Given the description of an element on the screen output the (x, y) to click on. 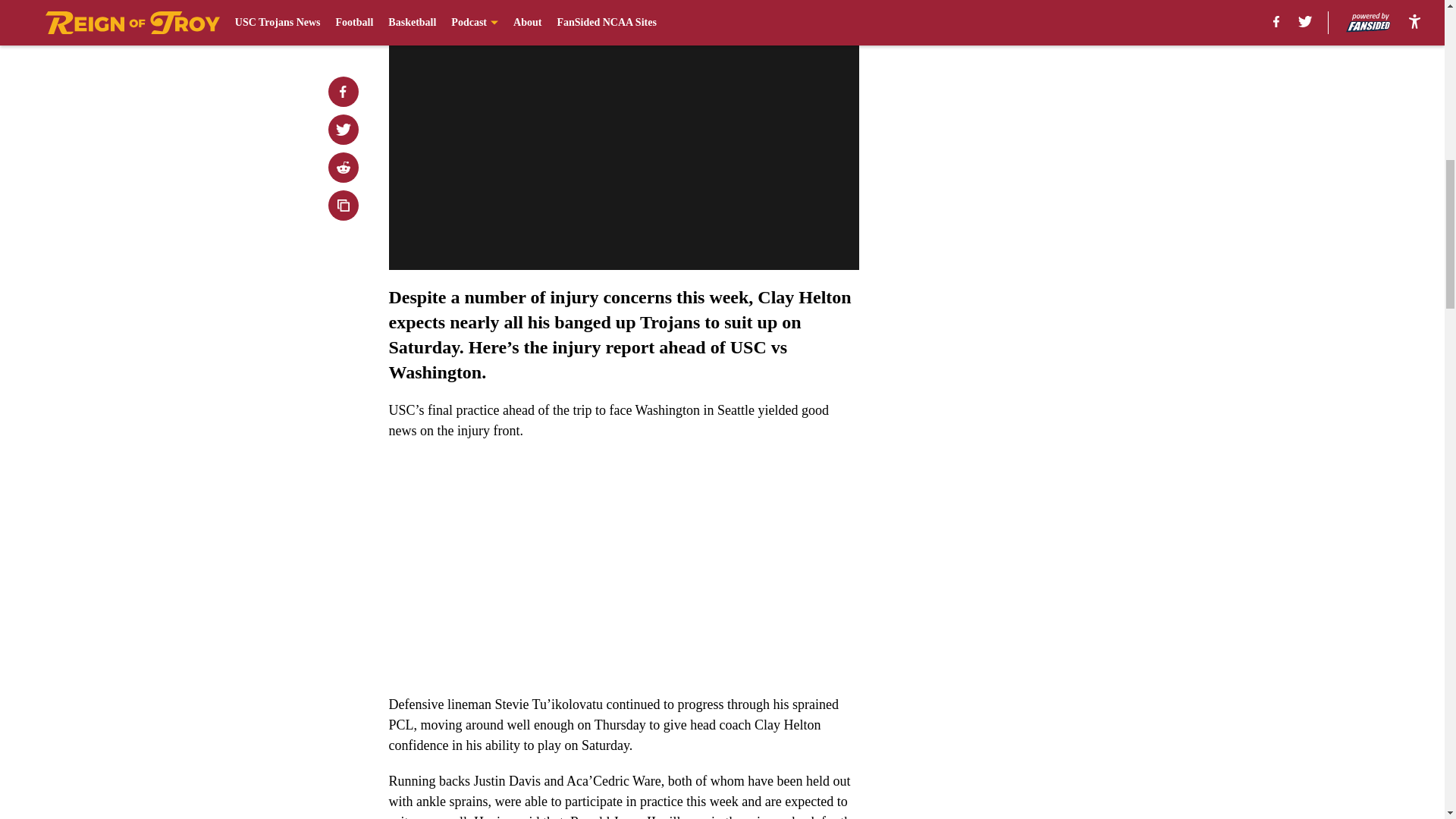
3rd party ad content (1047, 100)
3rd party ad content (1047, 320)
